Given the description of an element on the screen output the (x, y) to click on. 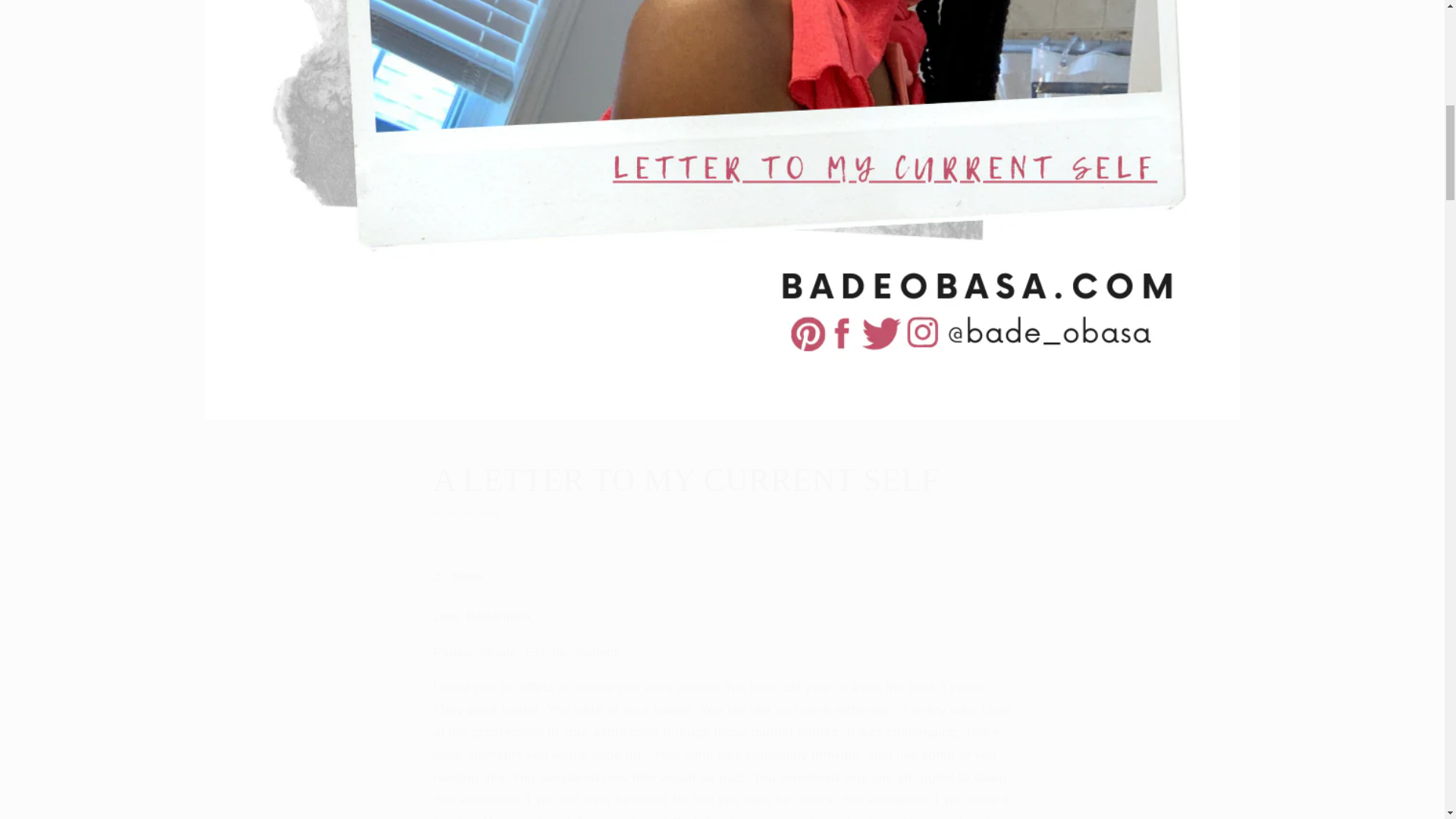
Share (721, 489)
